Given the description of an element on the screen output the (x, y) to click on. 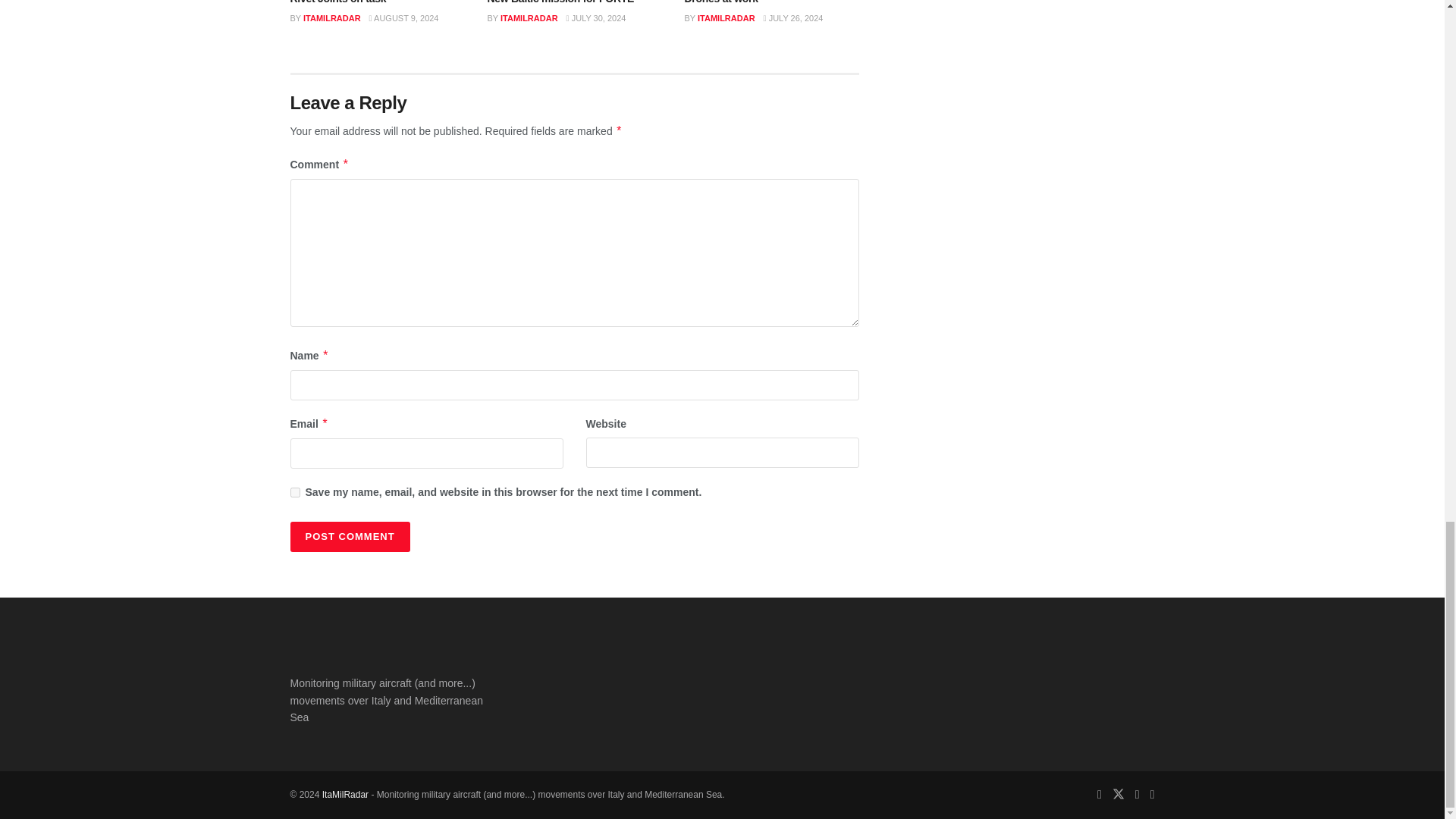
Post Comment (349, 536)
yes (294, 492)
